Given the description of an element on the screen output the (x, y) to click on. 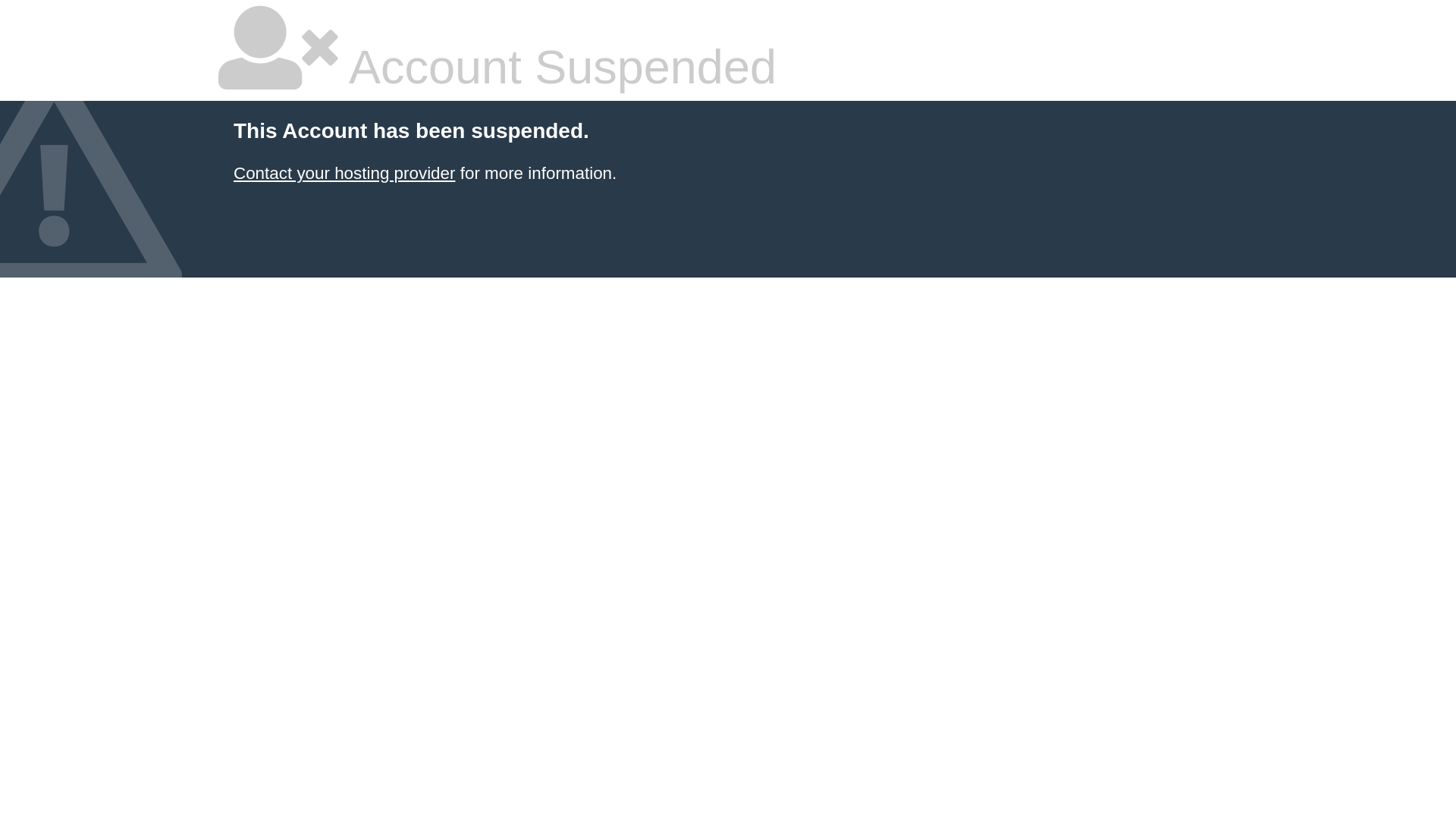
Contact your hosting provider Element type: text (344, 172)
